Given the description of an element on the screen output the (x, y) to click on. 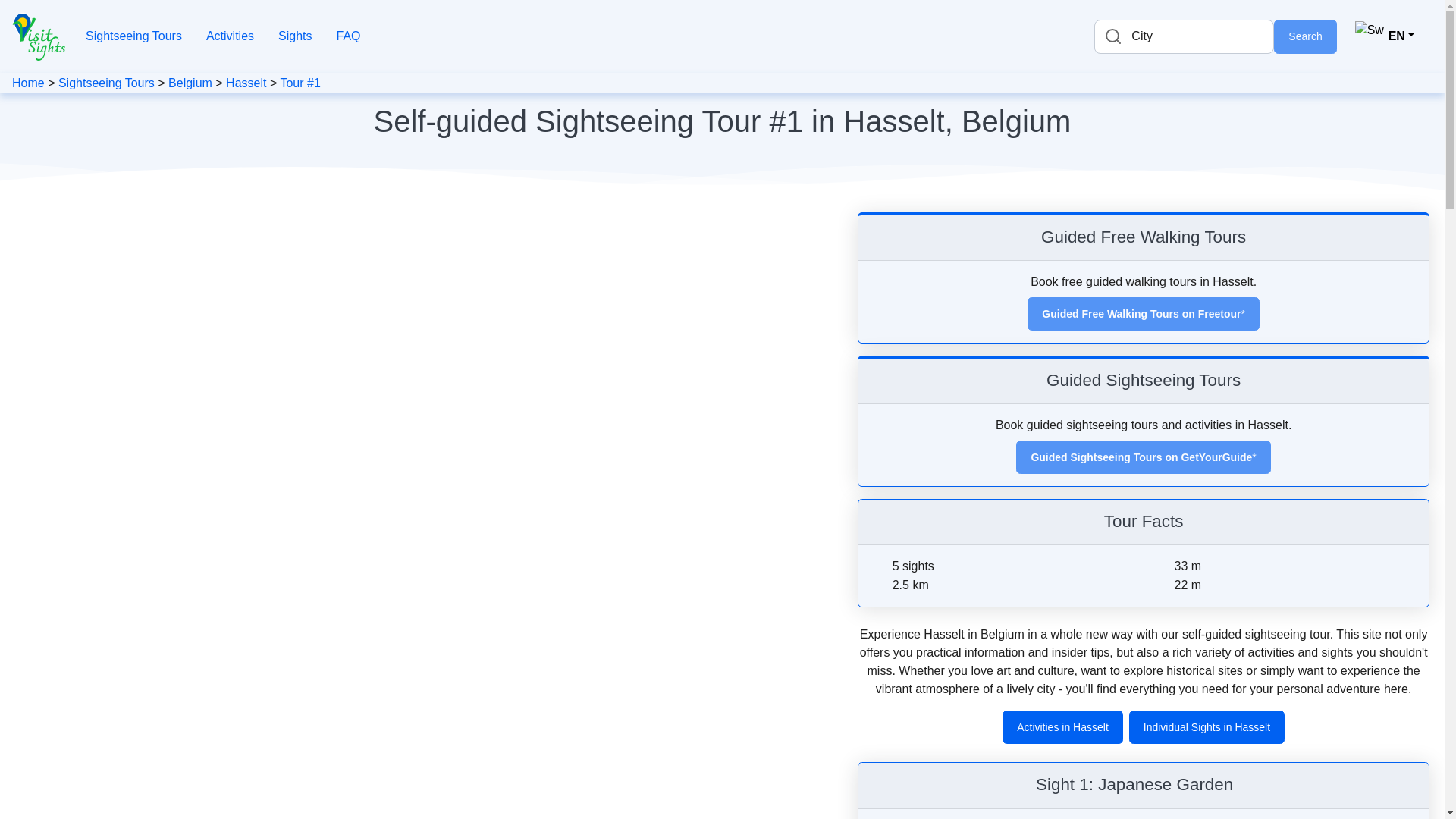
Hasselt (245, 82)
Distance (879, 585)
Search (1305, 36)
Number of sights (879, 566)
Switch language (1384, 36)
Ascend (1161, 566)
Home (28, 82)
FAQ (348, 36)
EN (1384, 36)
Show sight on map (1241, 787)
Activities in Hasselt (1062, 726)
Belgium (190, 82)
Sightseeing Tours (133, 36)
Individual Sights in Hasselt (1206, 726)
Descend (1161, 585)
